Given the description of an element on the screen output the (x, y) to click on. 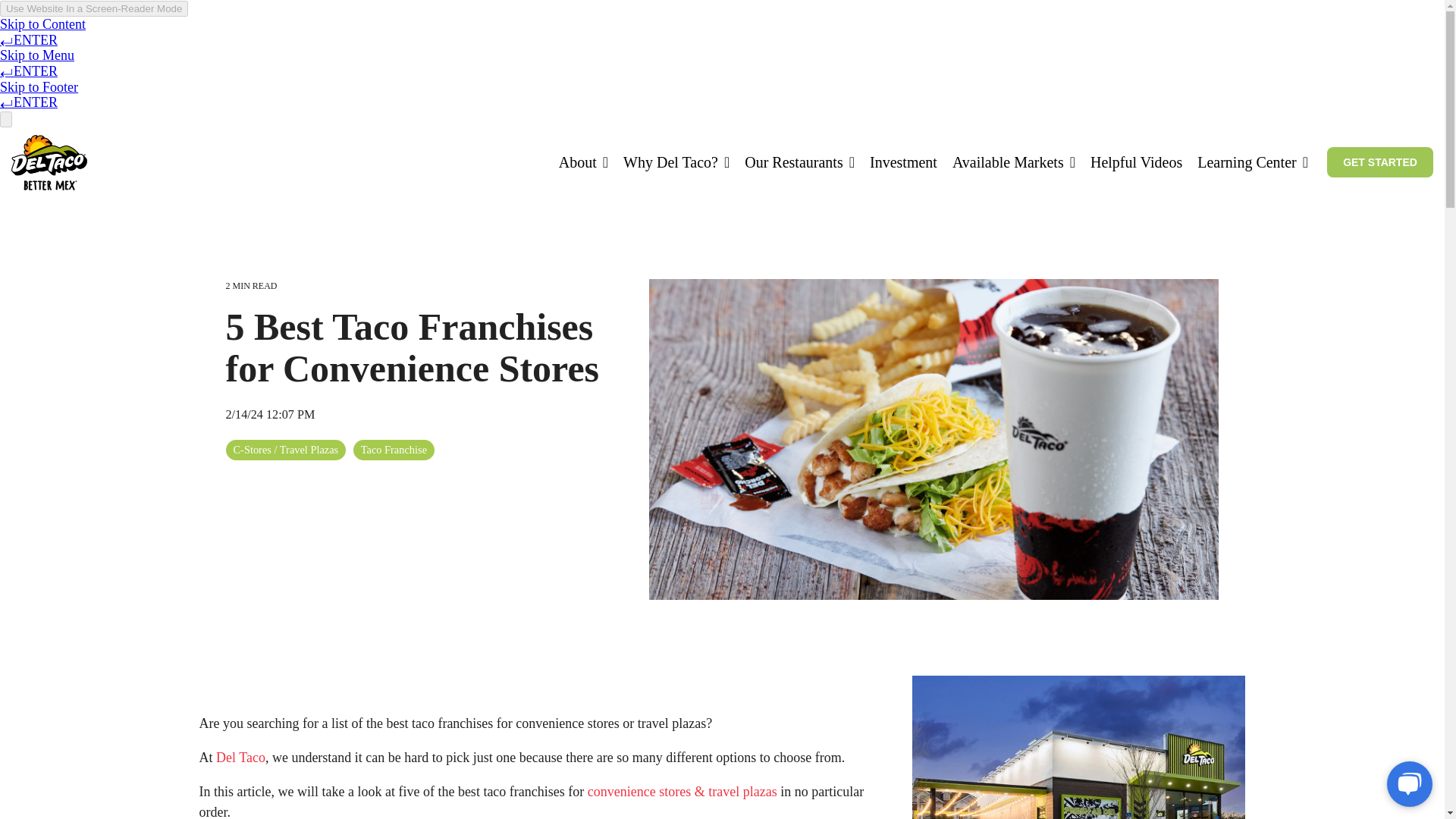
Our Restaurants (799, 162)
Embedded CTA (1379, 162)
Investment (903, 162)
About (583, 162)
Why Del Taco? (676, 162)
Del Taco Franchise Better Mex Logo Registered (49, 162)
Helpful Videos (1136, 162)
Learning Center (1251, 162)
Available Markets (1013, 162)
